Given the description of an element on the screen output the (x, y) to click on. 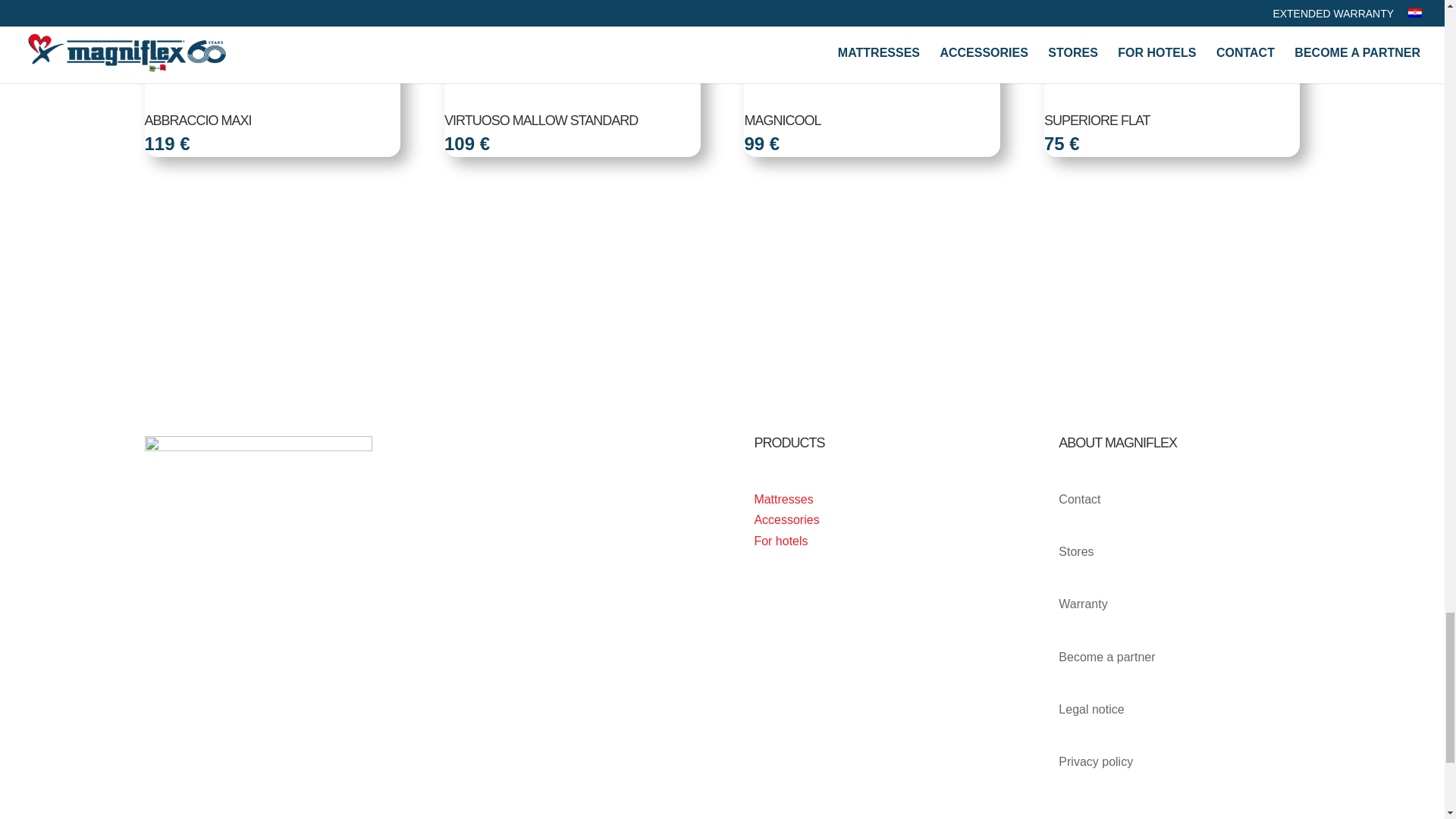
magniflex-logo-white-footer (257, 456)
Accessories (786, 519)
For hotels (781, 540)
Mattresses (783, 499)
